Given the description of an element on the screen output the (x, y) to click on. 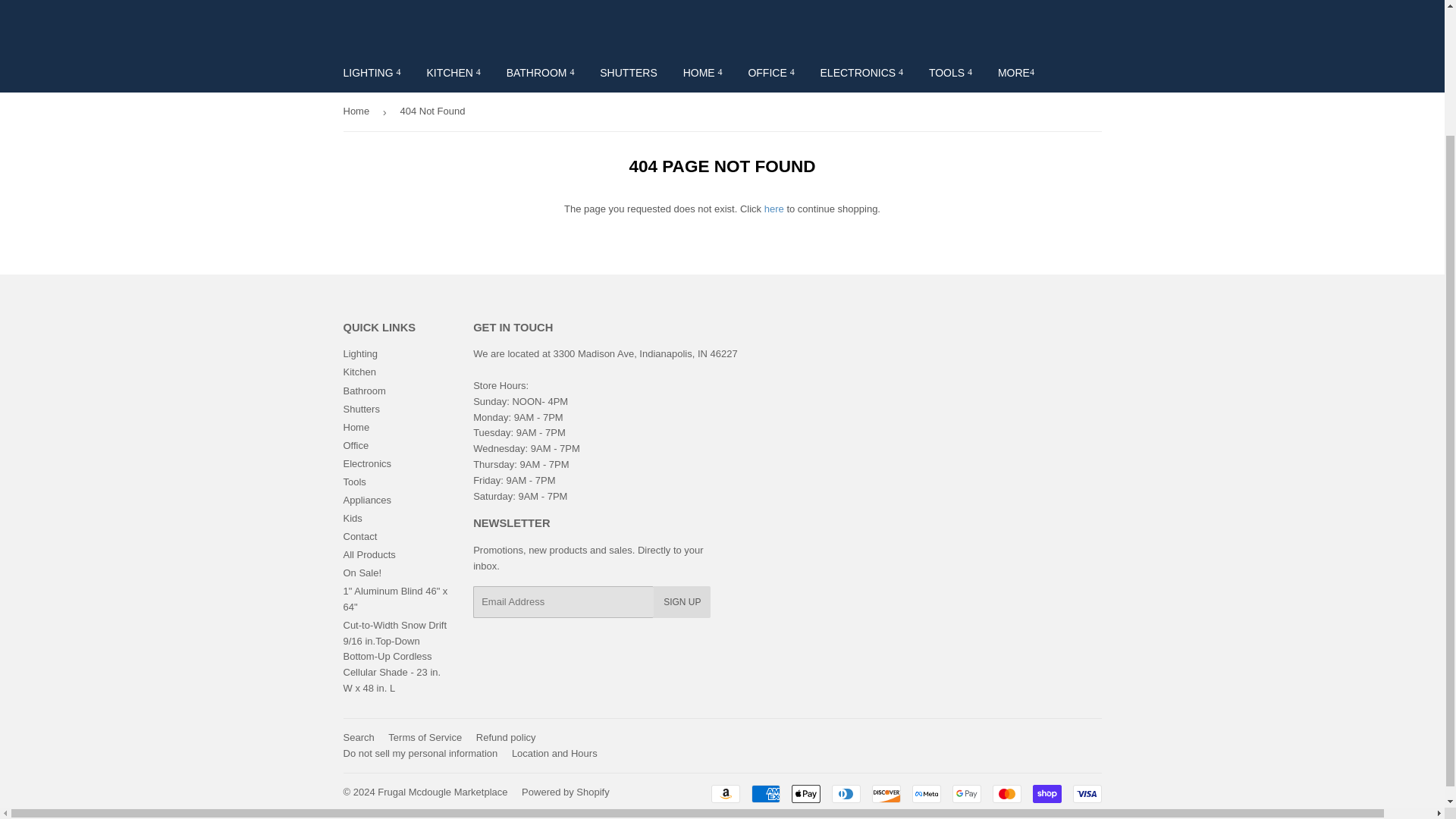
Smile.io Rewards Program Launcher (1374, 614)
Amazon (725, 793)
Discover (886, 793)
Shop Pay (1046, 793)
Visa (1085, 793)
Apple Pay (806, 793)
Meta Pay (925, 793)
Google Pay (966, 793)
Mastercard (1005, 793)
American Express (764, 793)
Diners Club (845, 793)
